Given the description of an element on the screen output the (x, y) to click on. 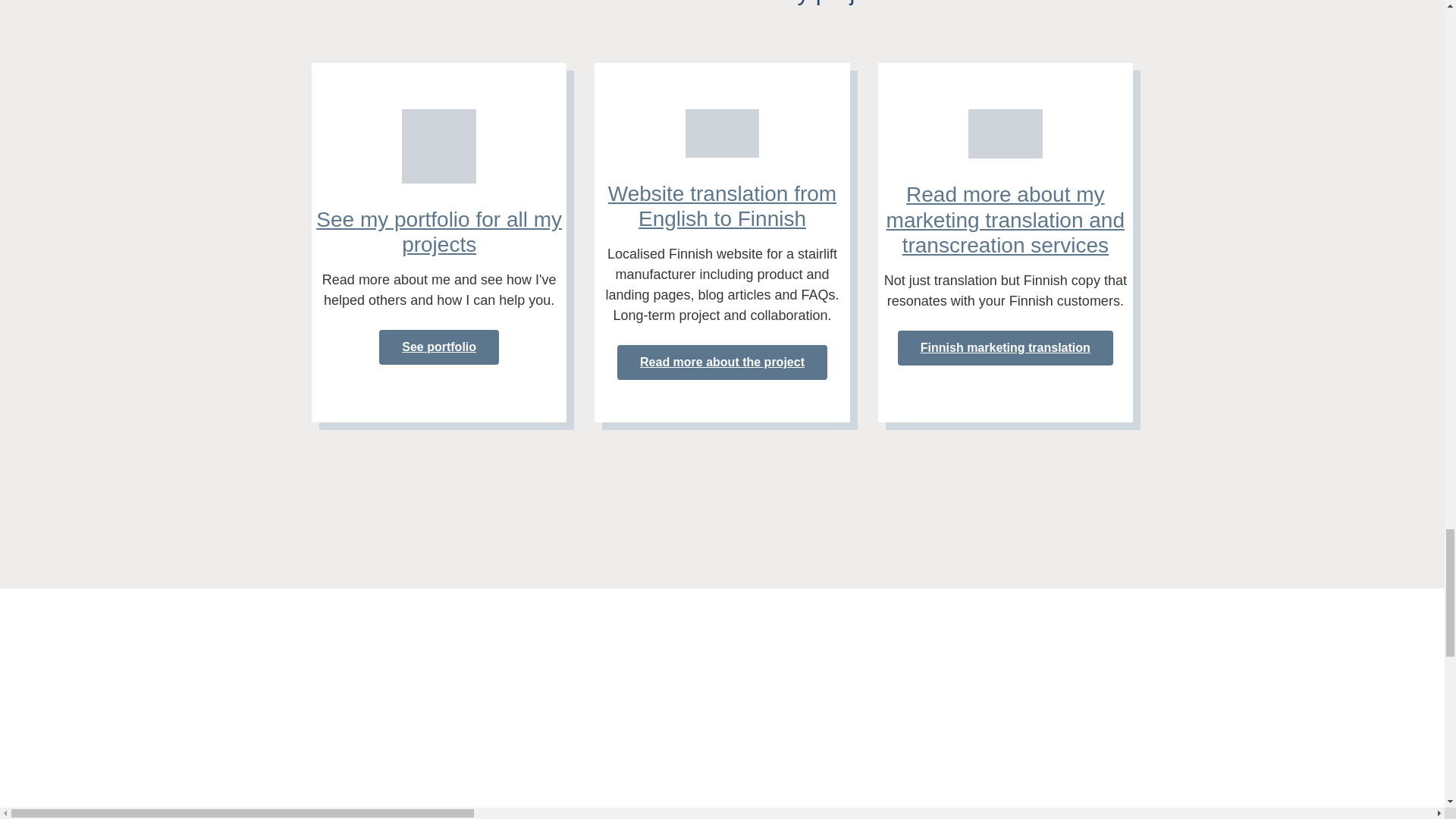
Finnish marketing translation (1005, 347)
See portfolio (438, 347)
Website translation from English to Finnish (721, 205)
Read more about the project (722, 362)
See my portfolio for all my projects (438, 232)
